Given the description of an element on the screen output the (x, y) to click on. 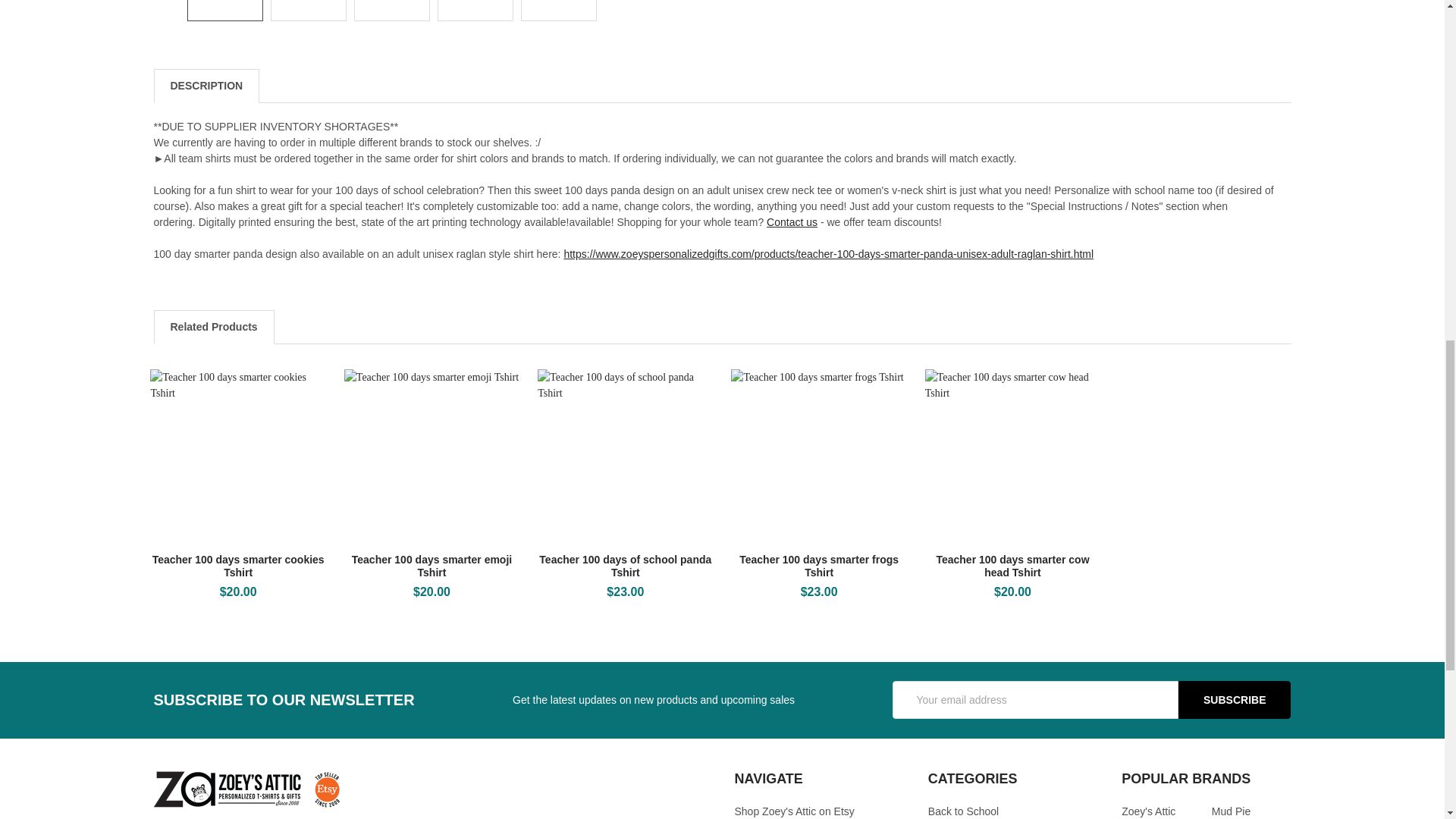
Teacher 100 days smarter panda Tshirt (392, 10)
Teacher 100 days of school panda Tshirt (625, 456)
Teacher 100 days smarter panda Tshirt (224, 10)
Teacher 100 days smarter panda Tshirt (308, 10)
Teacher 100 days smarter frogs Tshirt (817, 456)
Teacher 100 days smarter cookies Tshirt  (236, 456)
Teacher 100 days smarter panda Tshirt (558, 10)
Subscribe (1233, 699)
Teacher 100 days smarter panda Tshirt (475, 10)
Teacher 100 days smarter emoji Tshirt (431, 456)
